Given the description of an element on the screen output the (x, y) to click on. 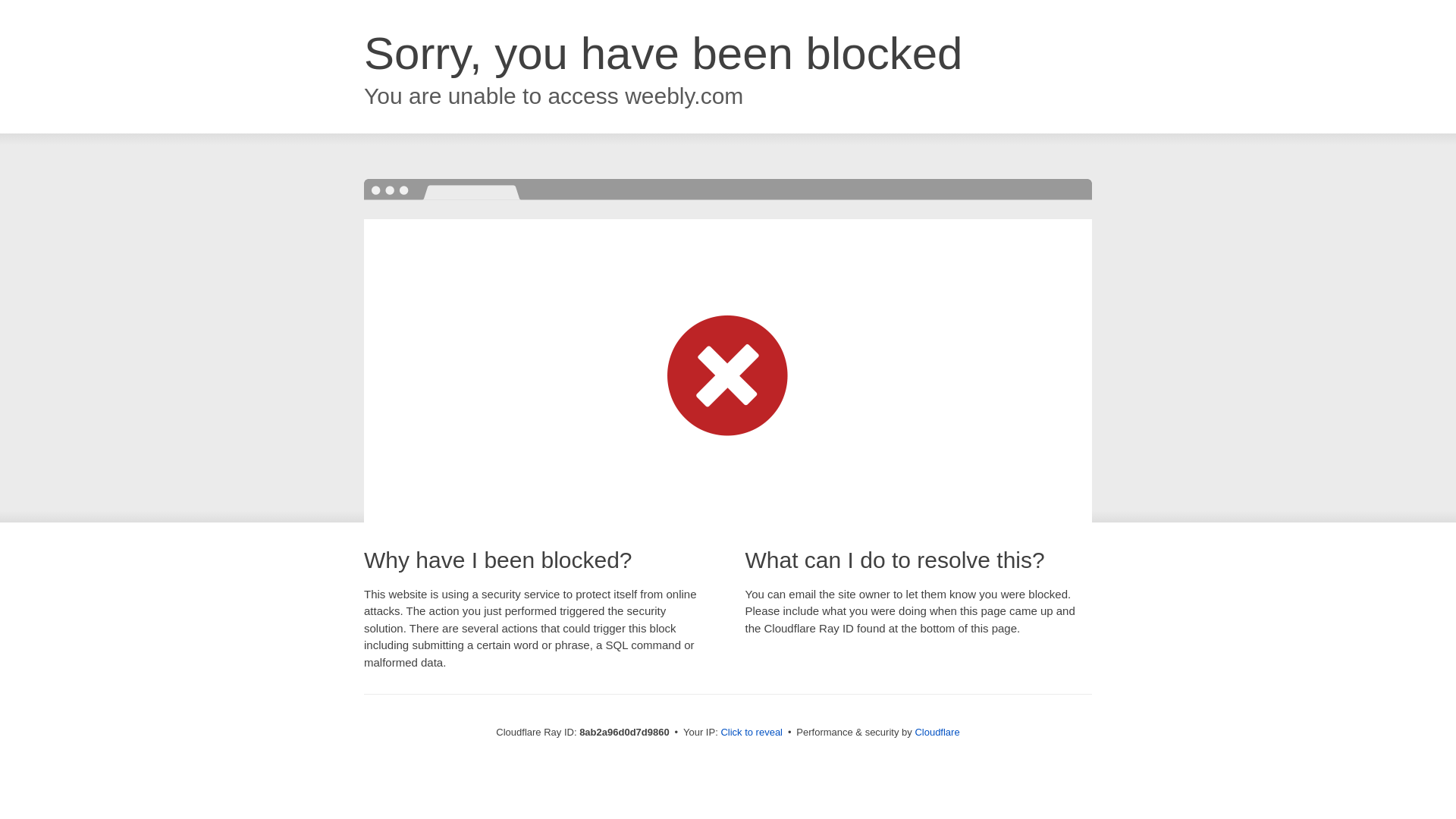
Click to reveal (751, 732)
Cloudflare (936, 731)
